Given the description of an element on the screen output the (x, y) to click on. 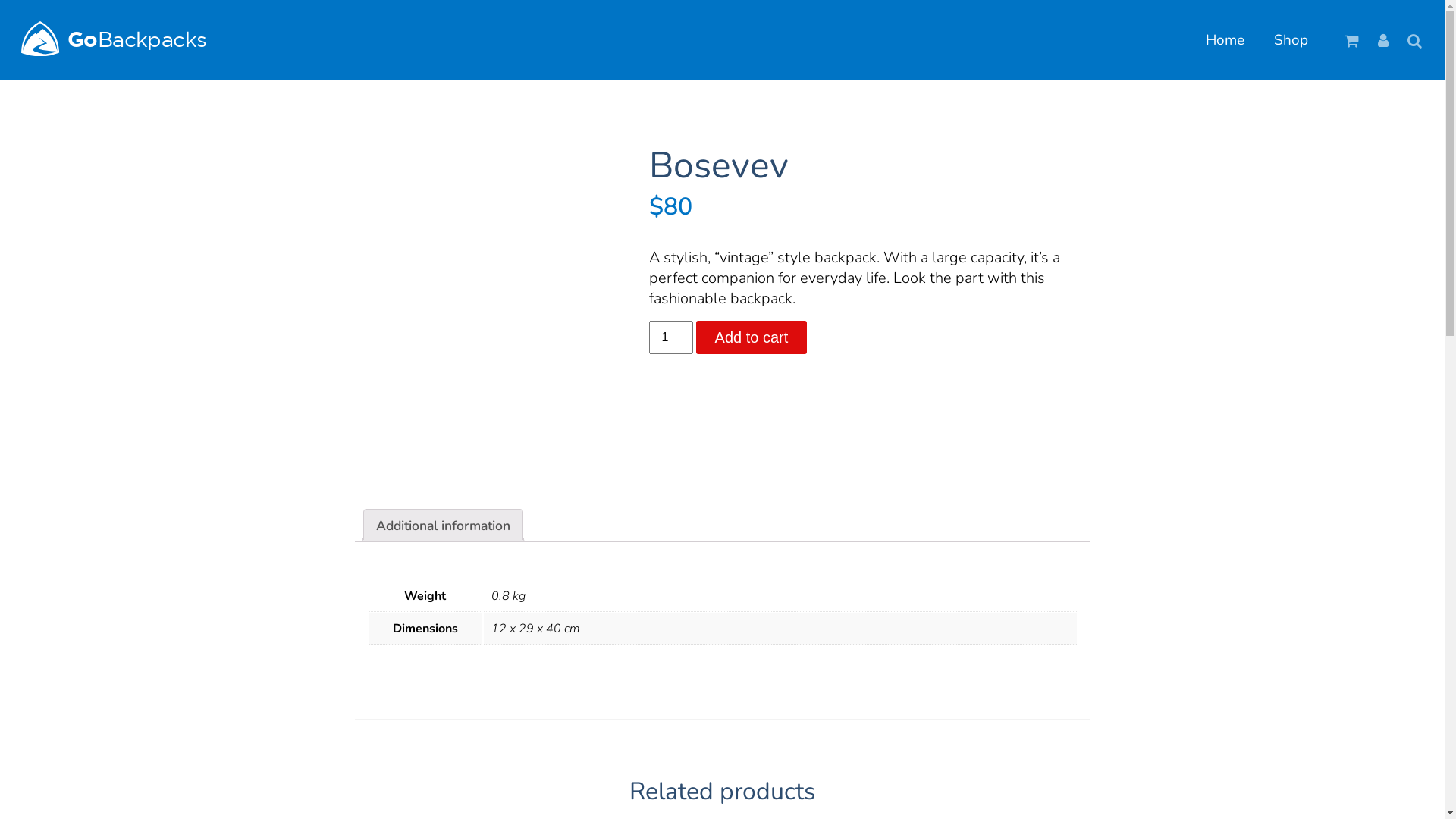
Home Element type: text (1224, 40)
Shopping Cart Element type: hover (1351, 40)
Add to cart Element type: text (751, 337)
Additional information Element type: text (443, 525)
Qty Element type: hover (671, 337)
Shop Element type: text (1291, 40)
Search for Products Element type: hover (1414, 40)
